Given the description of an element on the screen output the (x, y) to click on. 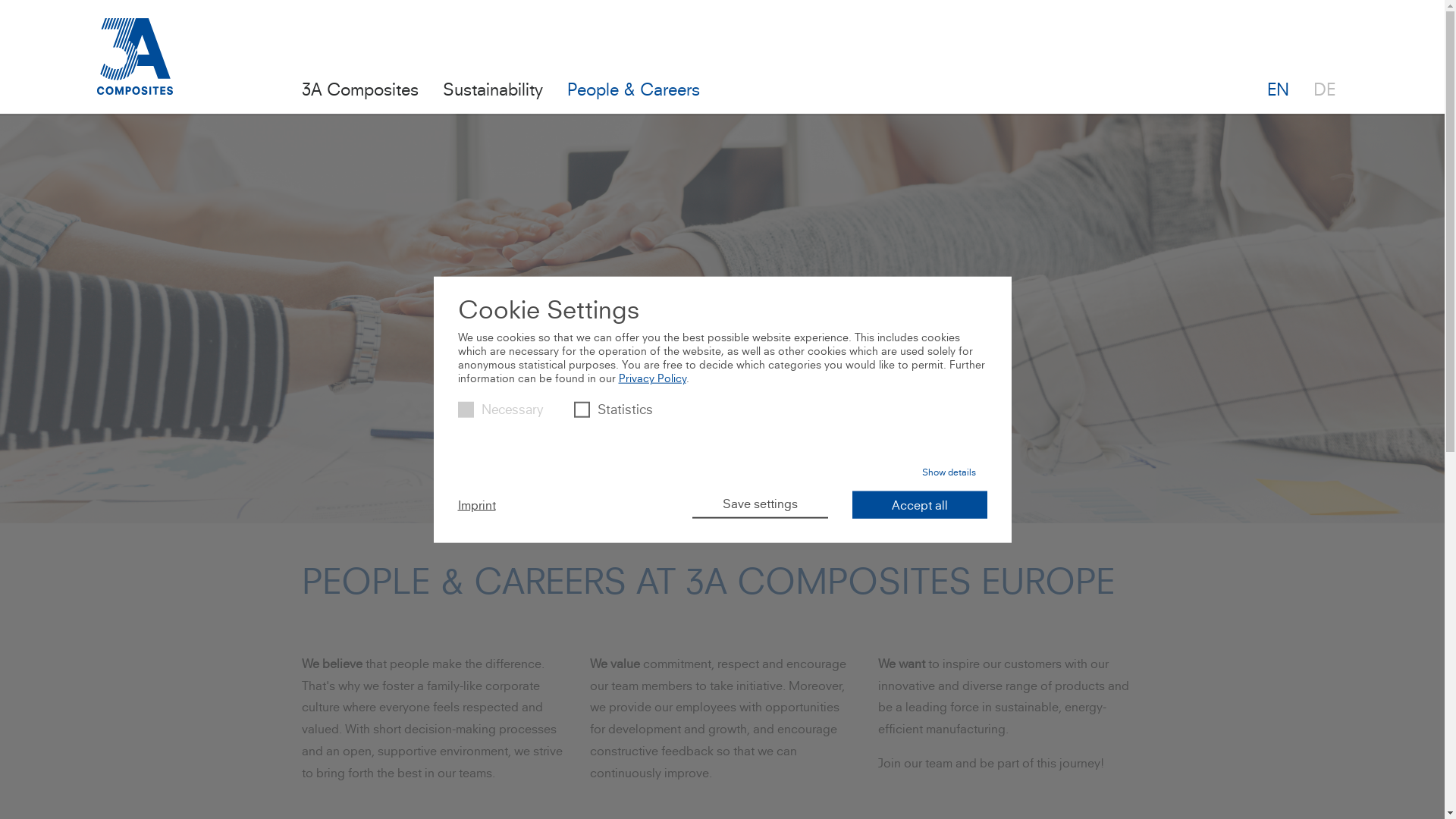
Save settings Element type: text (759, 503)
Sustainability Element type: text (492, 87)
Accept all Element type: text (919, 503)
People & Careers Element type: text (633, 87)
Privacy Policy Element type: text (652, 378)
3A Composites Element type: text (359, 87)
3AC Element type: hover (134, 56)
Home Element type: hover (134, 65)
DE Element type: text (1324, 87)
Imprint Element type: text (476, 503)
EN Element type: text (1278, 87)
